Given the description of an element on the screen output the (x, y) to click on. 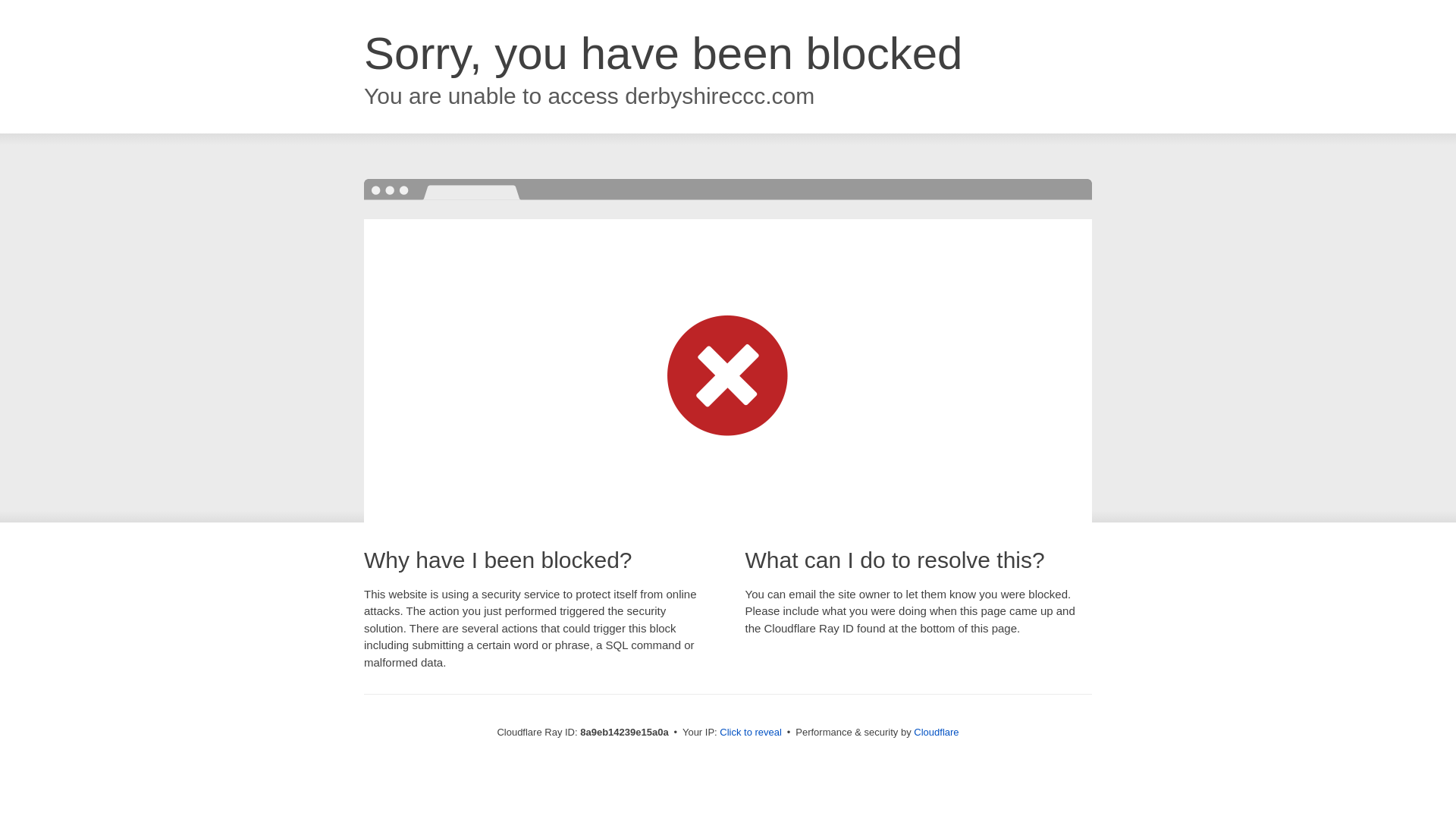
Cloudflare (936, 731)
Click to reveal (750, 732)
